Given the description of an element on the screen output the (x, y) to click on. 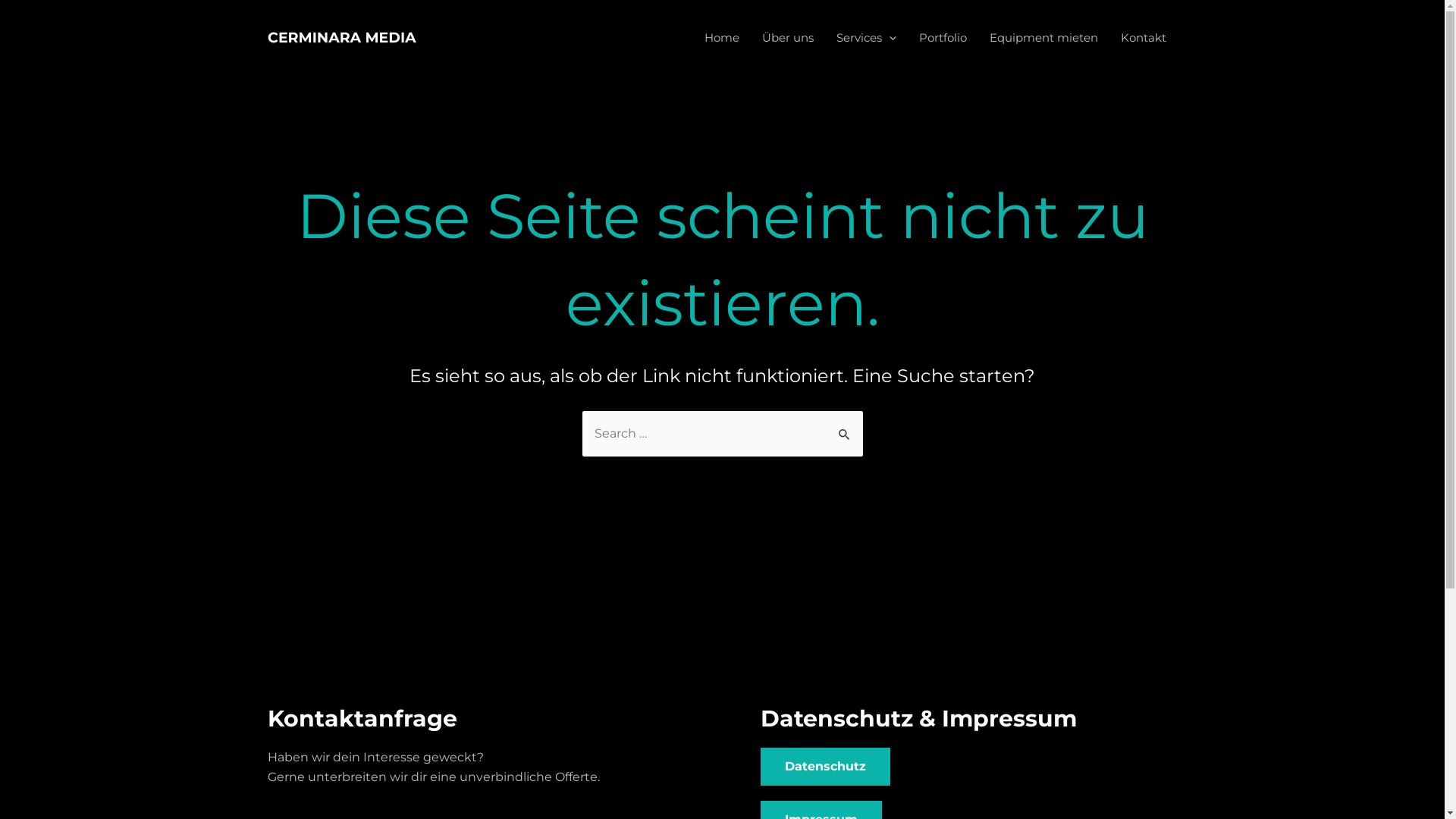
Suche Element type: text (845, 426)
Kontakt Element type: text (1142, 37)
Equipment mieten Element type: text (1043, 37)
Datenschutz Element type: text (824, 766)
Home Element type: text (721, 37)
Portfolio Element type: text (941, 37)
Services Element type: text (866, 37)
